Given the description of an element on the screen output the (x, y) to click on. 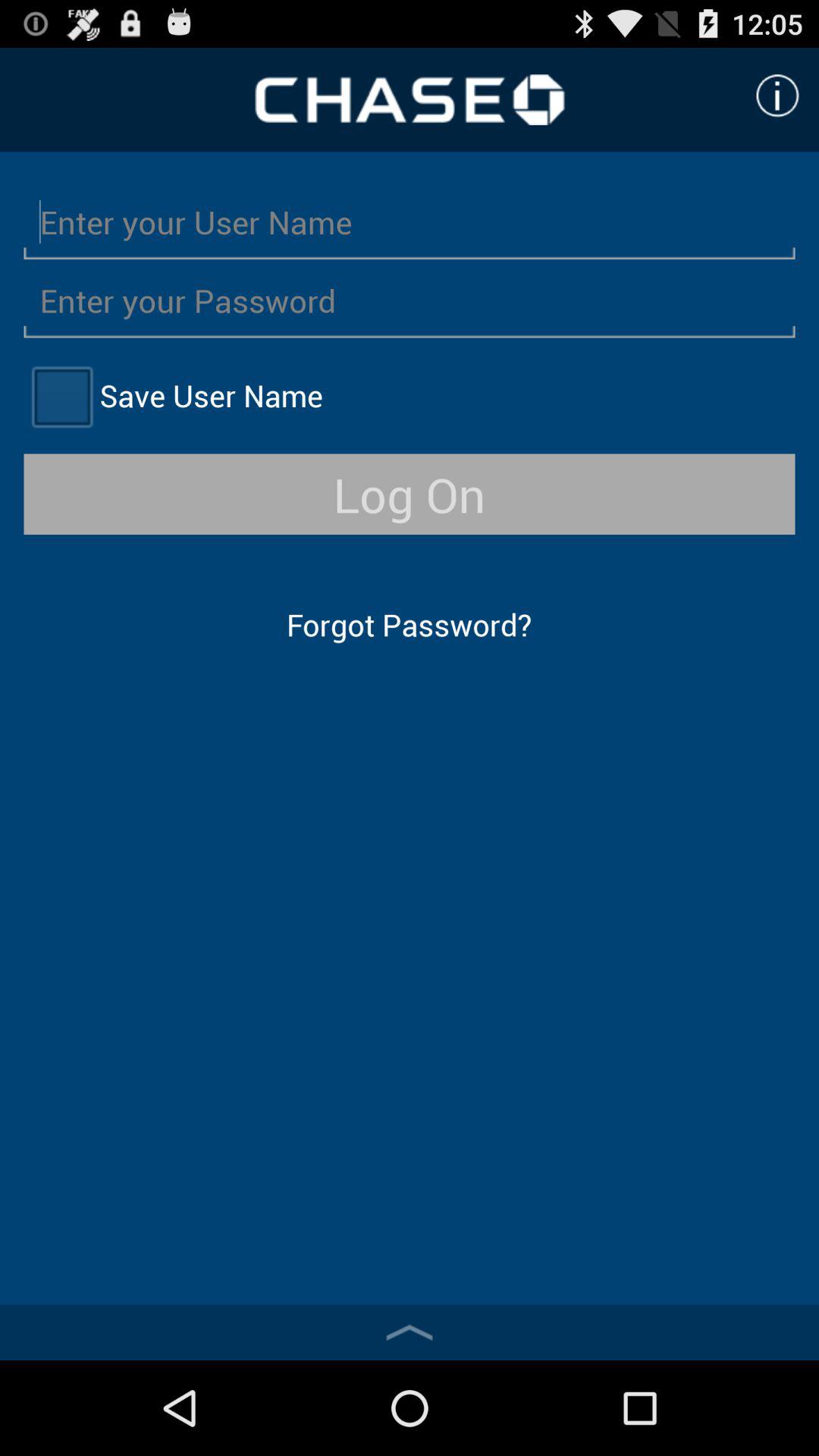
enter/type username (409, 221)
